Given the description of an element on the screen output the (x, y) to click on. 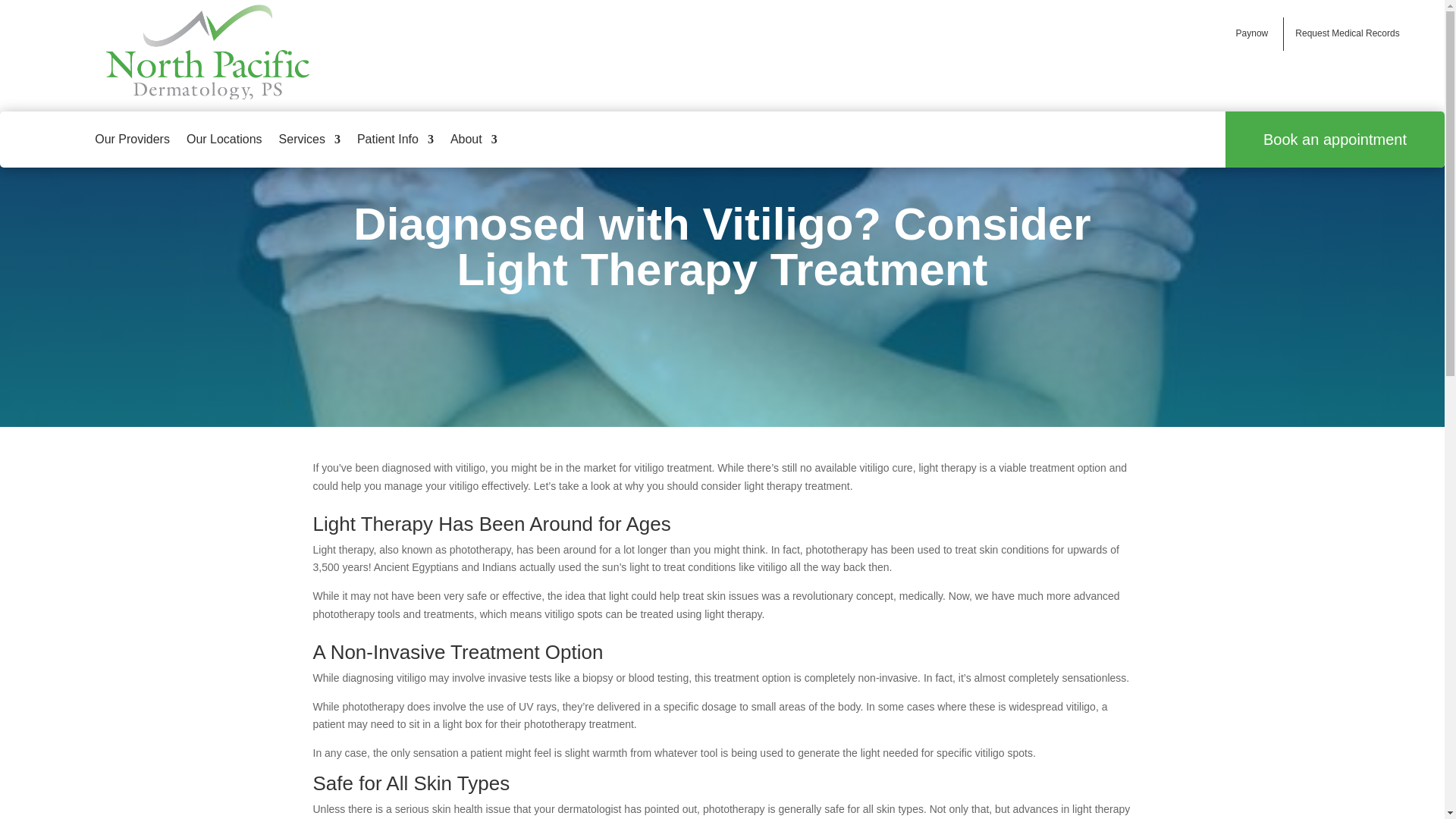
Our Providers (132, 139)
Our Locations (224, 139)
Patient Info (394, 139)
NorthPacificDermatology-logo (207, 51)
Services (309, 139)
